Given the description of an element on the screen output the (x, y) to click on. 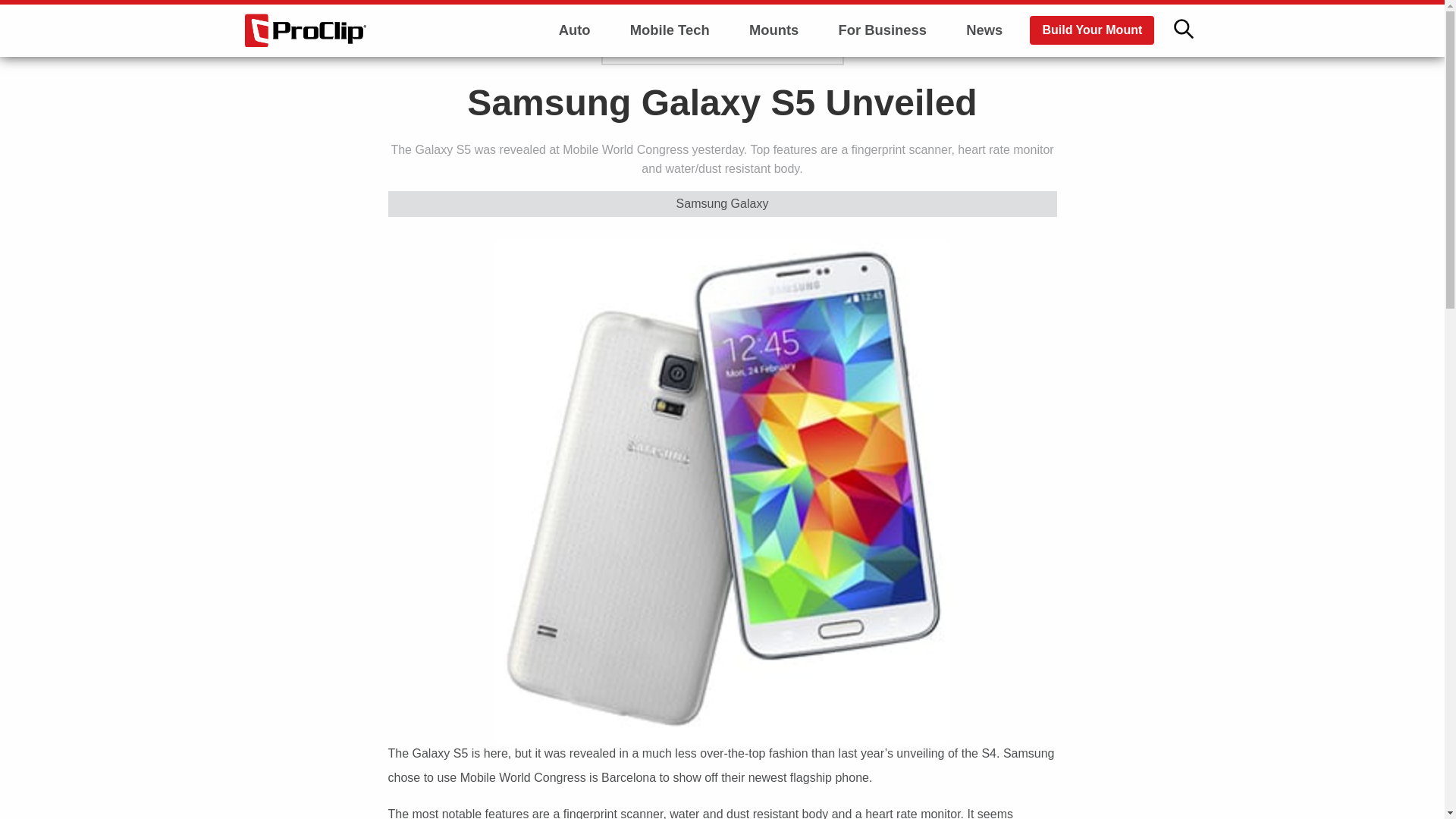
Industry News (574, 66)
News (983, 30)
Phone Holders (774, 66)
Safety (574, 109)
Build Your Mount (1091, 30)
Auto (574, 30)
For Business (882, 30)
Apple (669, 66)
MOBILE TECH (663, 43)
Mounts (773, 30)
